Given the description of an element on the screen output the (x, y) to click on. 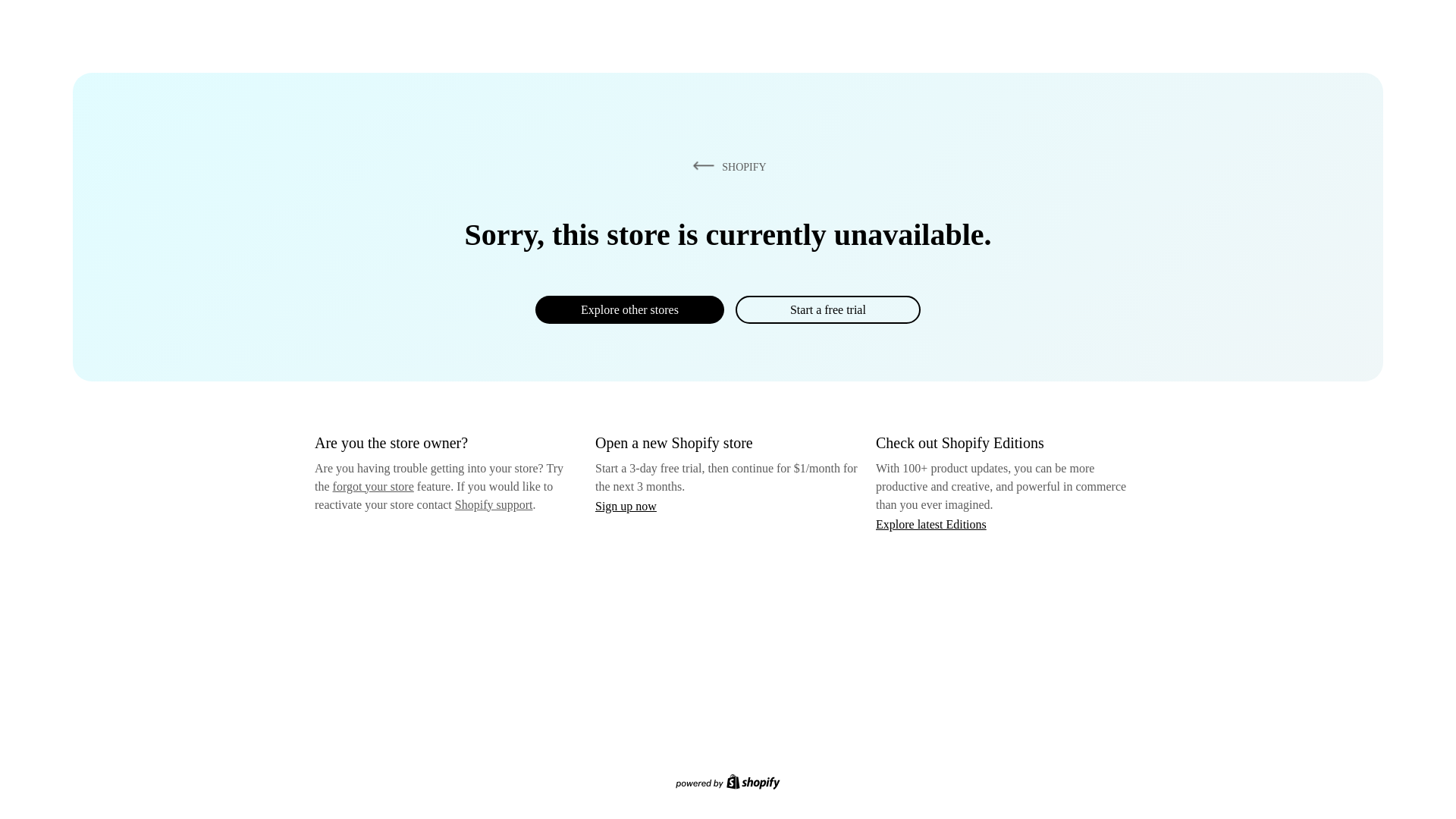
Shopify support (493, 504)
Sign up now (625, 505)
SHOPIFY (726, 166)
forgot your store (373, 486)
Explore latest Editions (931, 523)
Explore other stores (629, 309)
Start a free trial (827, 309)
